Given the description of an element on the screen output the (x, y) to click on. 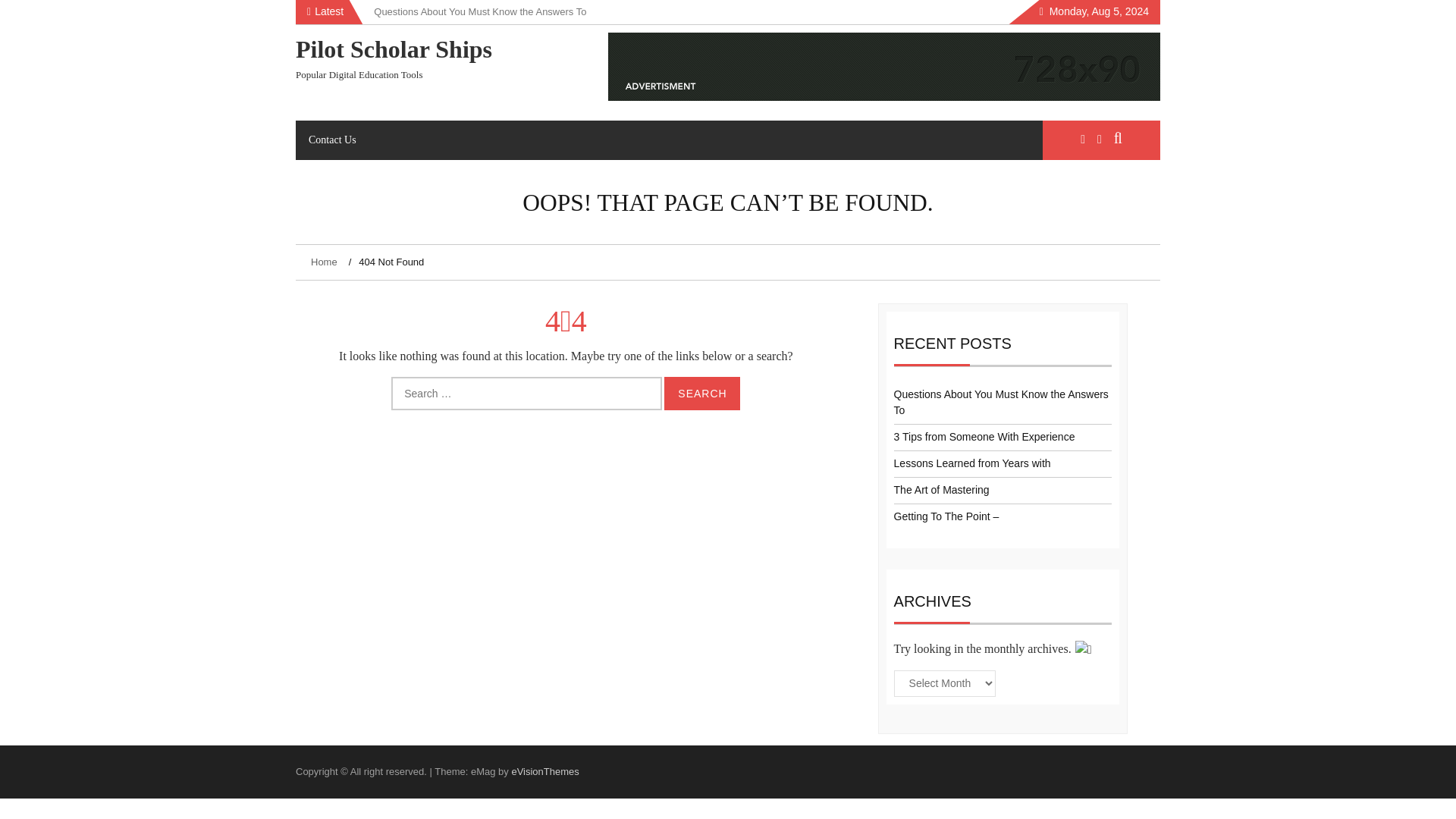
Contact Us (332, 139)
Questions About You Must Know the Answers To (480, 11)
The Art of Mastering (941, 490)
Search (701, 393)
eVisionThemes (544, 771)
Lessons Learned from Years with (972, 463)
Home (325, 261)
Search (701, 393)
Pilot Scholar Ships (393, 49)
Search (701, 393)
3 Tips from Someone With Experience (984, 436)
Questions About You Must Know the Answers To (1000, 402)
